Given the description of an element on the screen output the (x, y) to click on. 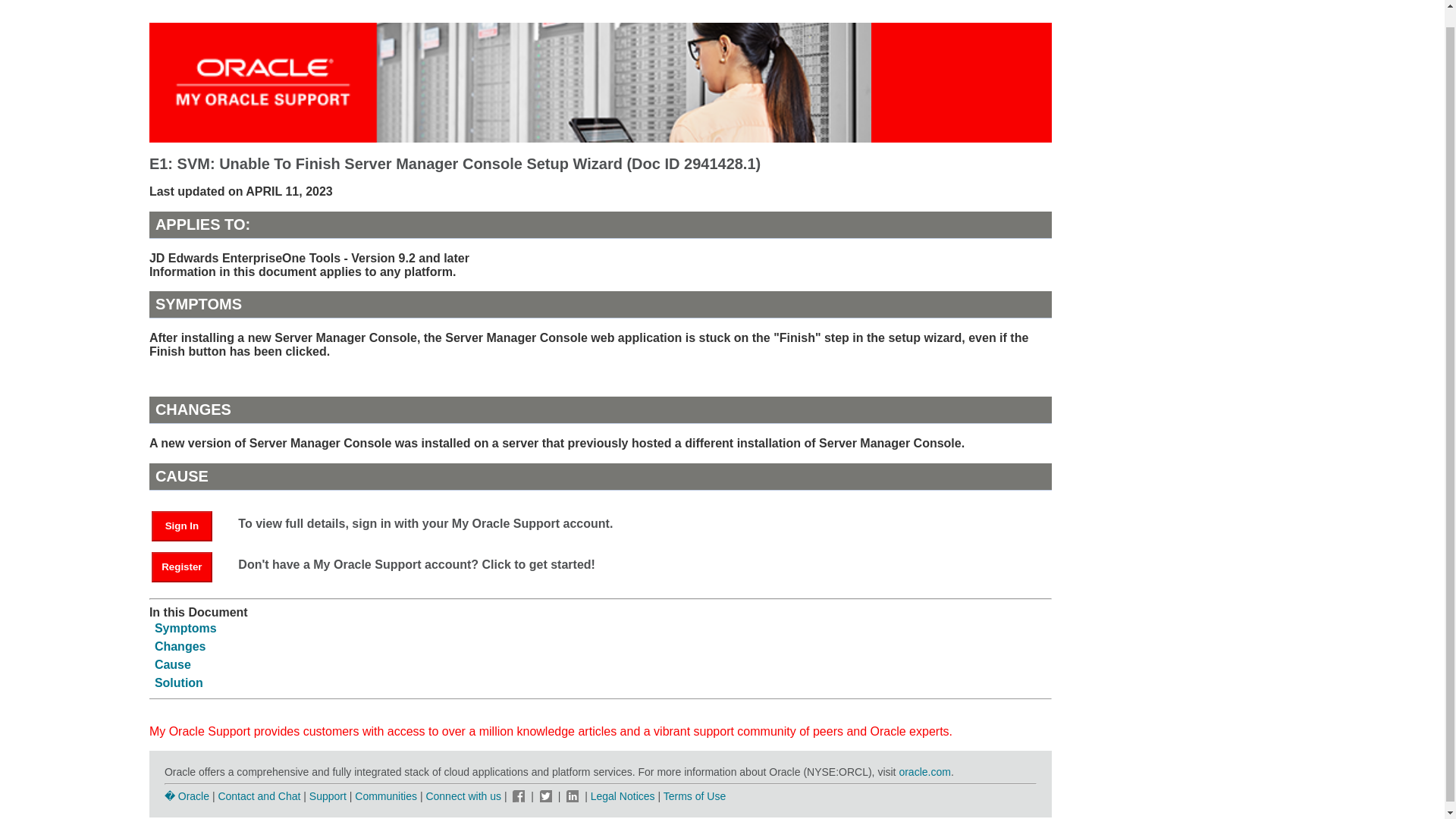
Solution (178, 682)
Contact and Chat (257, 796)
Changes (180, 645)
Connect with us (464, 796)
oracle.com (924, 771)
Sign In (189, 524)
Sign In (181, 526)
Legal Notices (623, 796)
Terms of Use (694, 796)
Cause (172, 664)
